Given the description of an element on the screen output the (x, y) to click on. 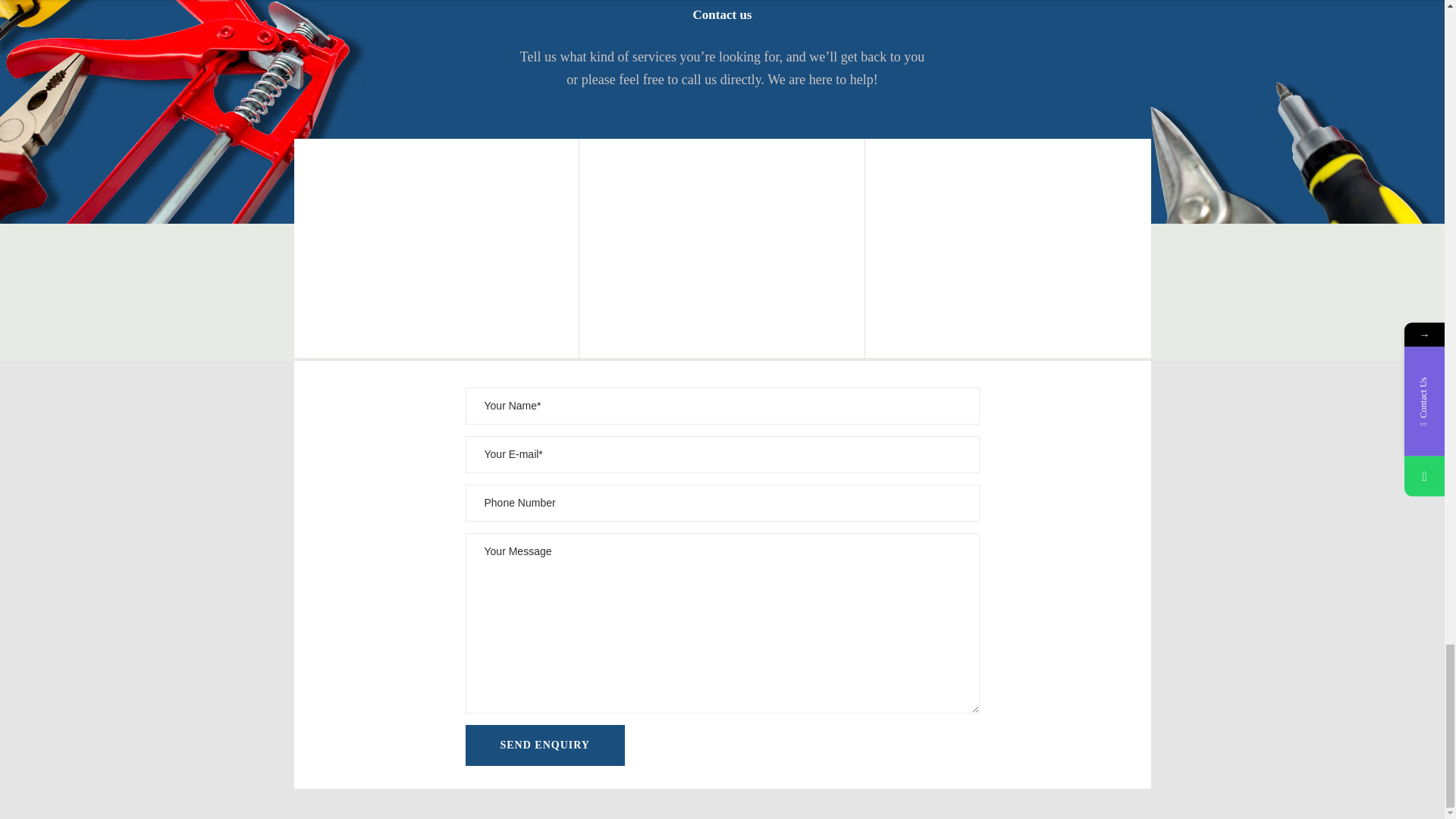
SEND ENQUIRY (544, 744)
